Given the description of an element on the screen output the (x, y) to click on. 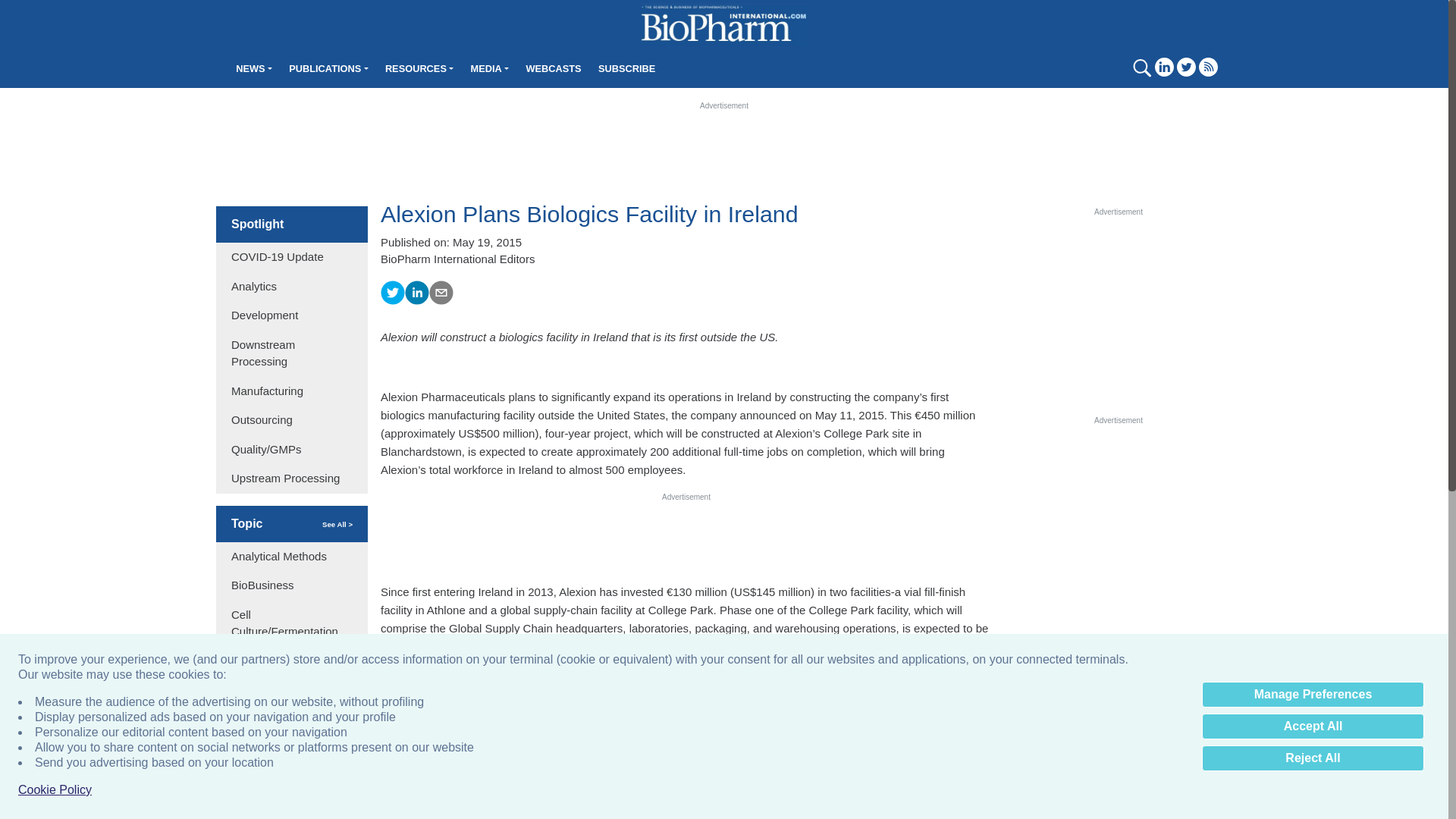
NEWS (254, 68)
3rd party ad content (686, 536)
3rd party ad content (1117, 520)
Accept All (1312, 726)
3rd party ad content (1117, 312)
3rd party ad content (723, 780)
Cookie Policy (54, 789)
Reject All (1312, 758)
Manage Preferences (1312, 694)
3rd party ad content (724, 145)
